Given the description of an element on the screen output the (x, y) to click on. 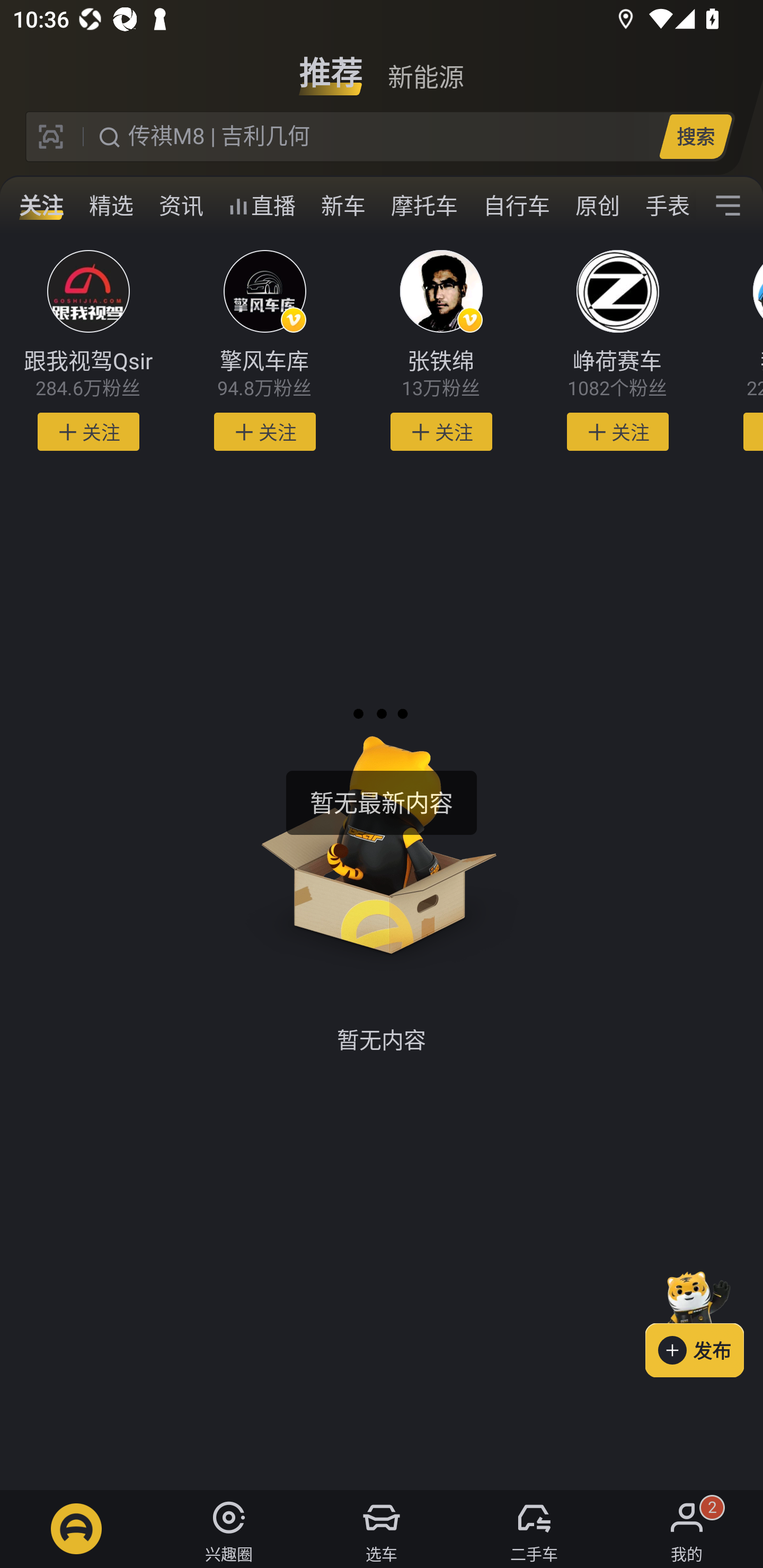
推荐 (330, 65)
新能源 (425, 65)
搜索 (695, 136)
关注 (41, 205)
精选 (111, 205)
资讯 (180, 205)
直播 (261, 205)
新车 (343, 205)
摩托车 (424, 205)
自行车 (516, 205)
原创 (597, 205)
手表 (663, 205)
 (727, 205)
跟我视驾Qsir (88, 361)
擎风车库 (264, 361)
张铁绵 (440, 361)
峥荷赛车 (617, 361)
284.6万粉丝 (88, 388)
94.8万粉丝 (264, 388)
13万粉丝 (440, 388)
1082个粉丝 (617, 388)
 关注 (88, 431)
 关注 (264, 431)
 关注 (441, 431)
 关注 (617, 431)
暂无内容 (381, 868)
发布 (704, 1320)
 兴趣圈 (228, 1528)
 选车 (381, 1528)
 二手车 (533, 1528)
 我的 (686, 1528)
